Given the description of an element on the screen output the (x, y) to click on. 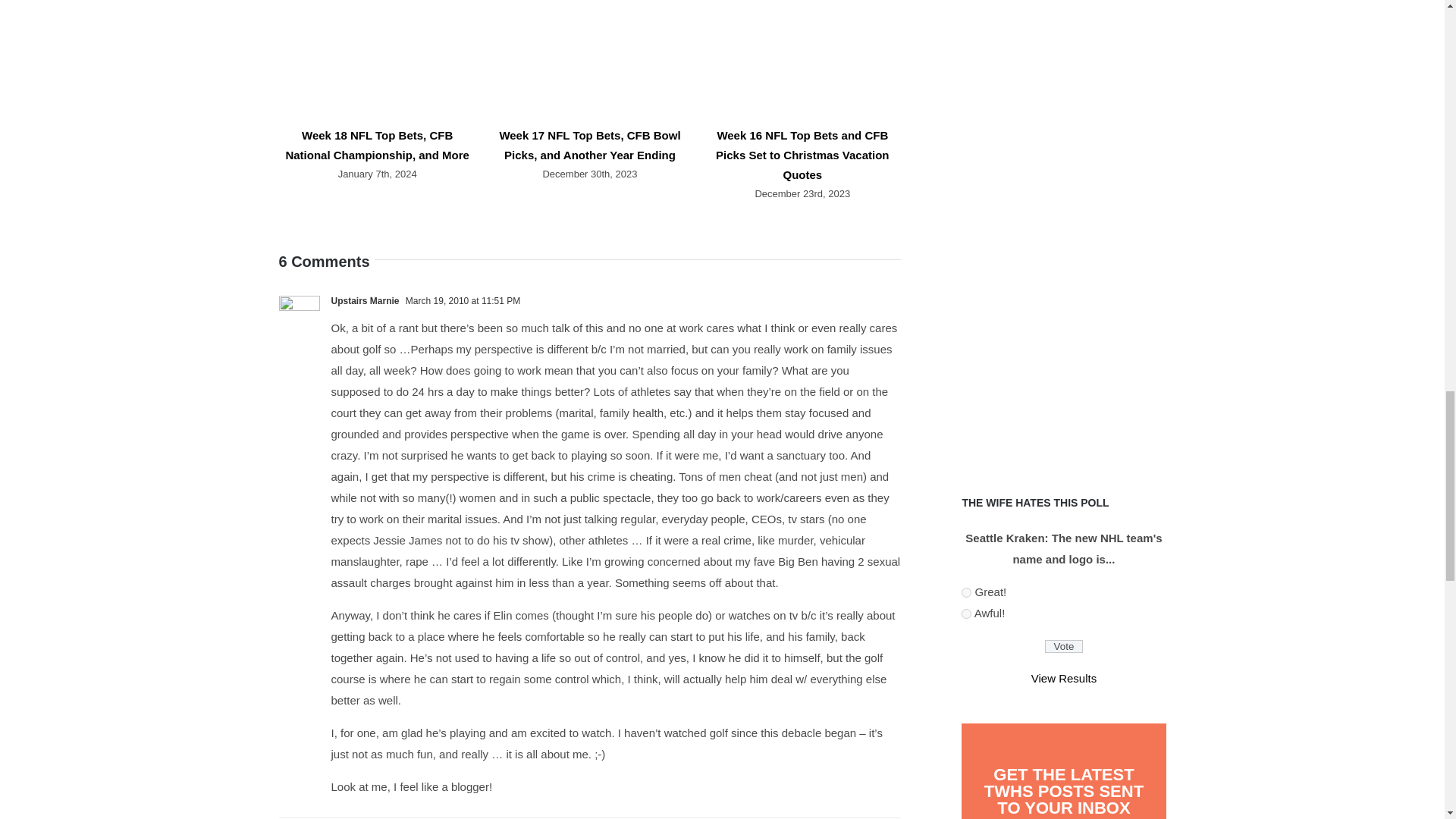
View Results Of This Poll (1063, 677)
375 (965, 614)
374 (965, 592)
Week 18 NFL Top Bets, CFB National Championship, and More (376, 144)
   Vote    (1064, 645)
Week 18 NFL Top Bets, CFB National Championship, and More (376, 144)
